Given the description of an element on the screen output the (x, y) to click on. 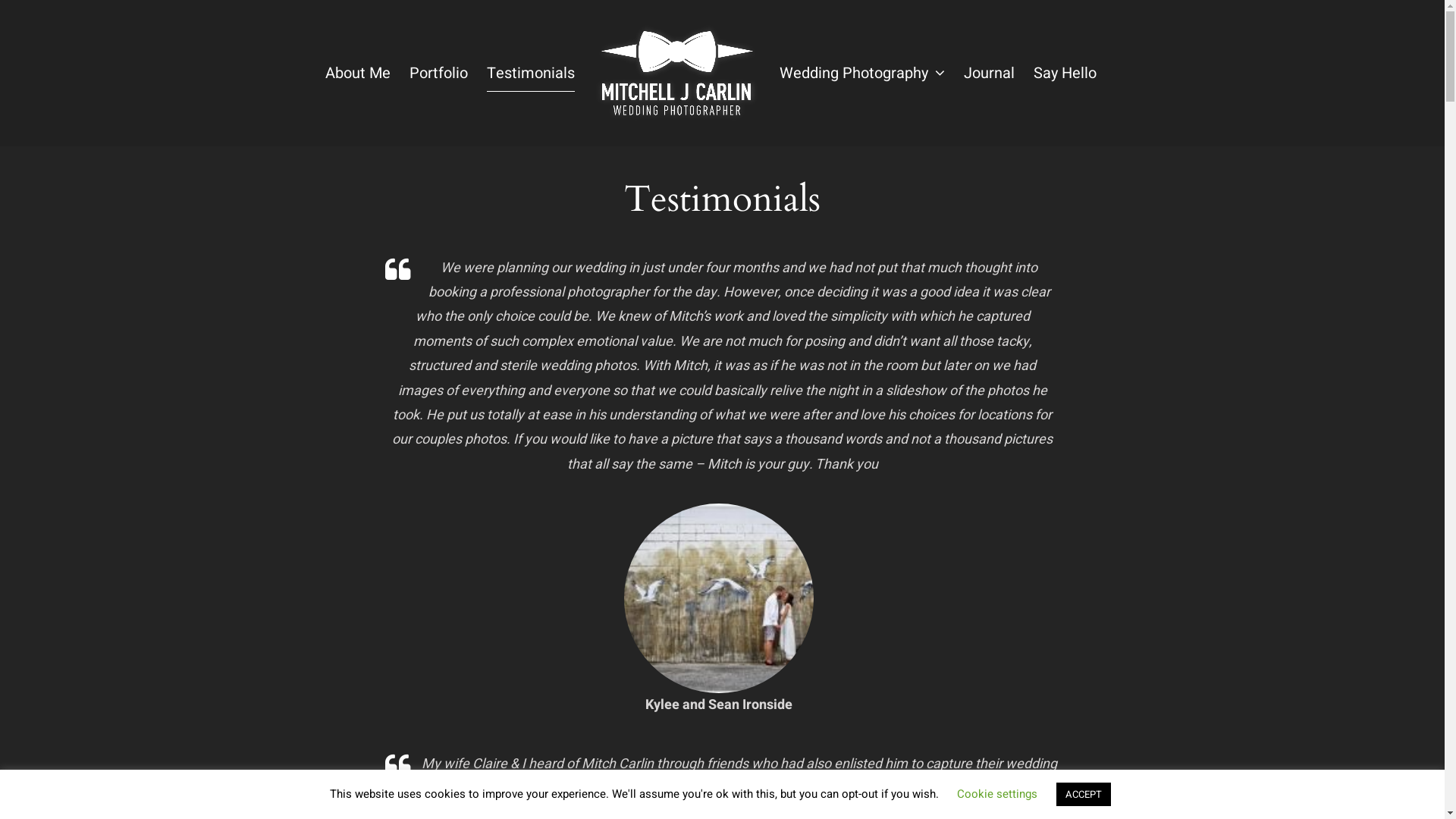
Portfolio Element type: text (438, 73)
About Me Element type: text (356, 73)
Journal Element type: text (988, 73)
Cookie settings Element type: text (997, 793)
Testimonials Element type: text (530, 73)
Say Hello Element type: text (1063, 73)
Wedding Photography Element type: text (861, 73)
ACCEPT Element type: text (1083, 794)
